Given the description of an element on the screen output the (x, y) to click on. 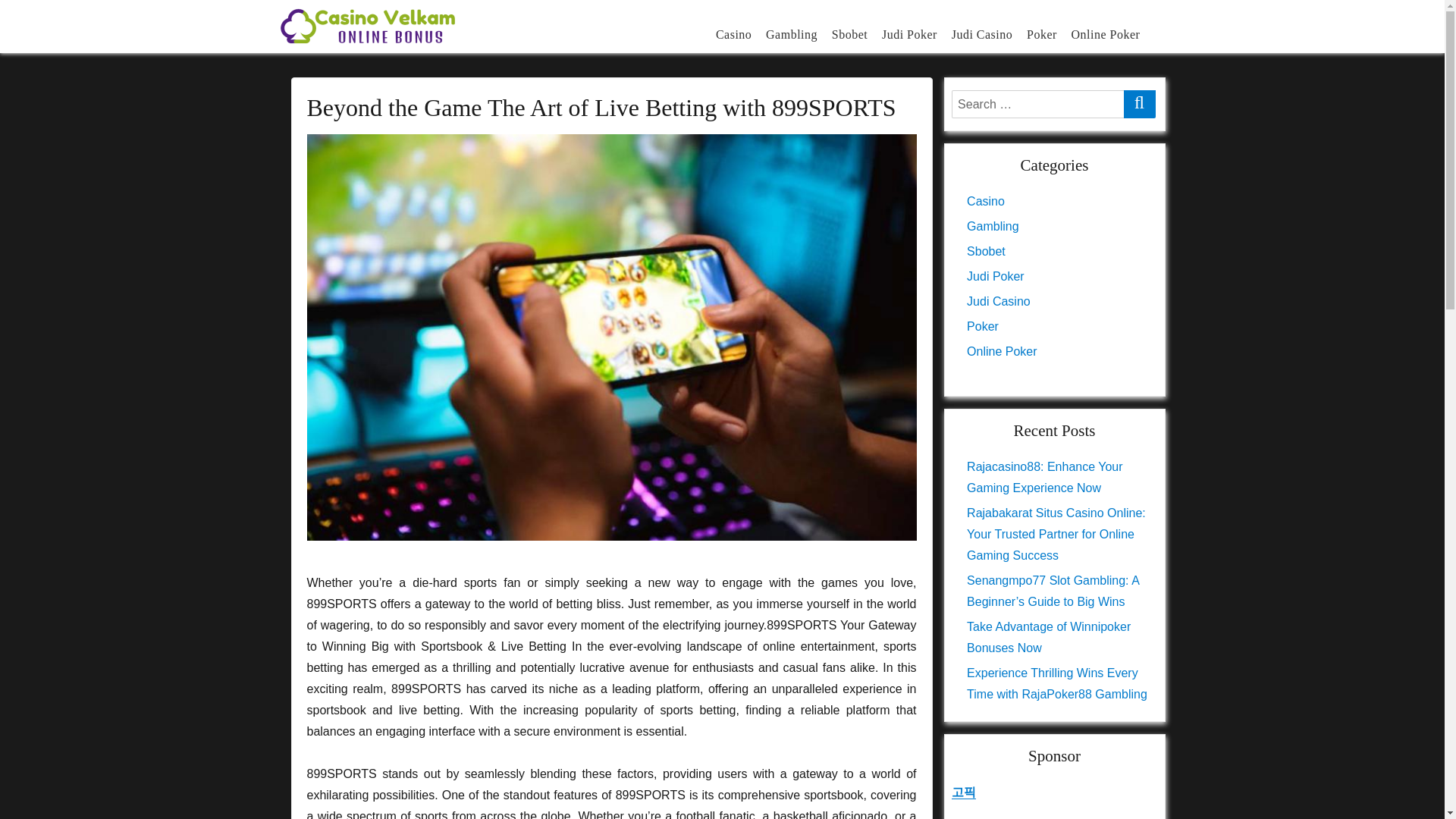
Poker (982, 326)
Judi Casino (998, 300)
Casino (985, 201)
Online Poker (1001, 350)
Judi Poker (995, 276)
Judi Casino (981, 33)
Sbobet (986, 250)
Judi Poker (909, 33)
Online Poker (1105, 33)
Casino (733, 33)
Rajacasino88: Enhance Your Gaming Experience Now (1044, 477)
Poker (1042, 33)
Gambling (791, 33)
